Given the description of an element on the screen output the (x, y) to click on. 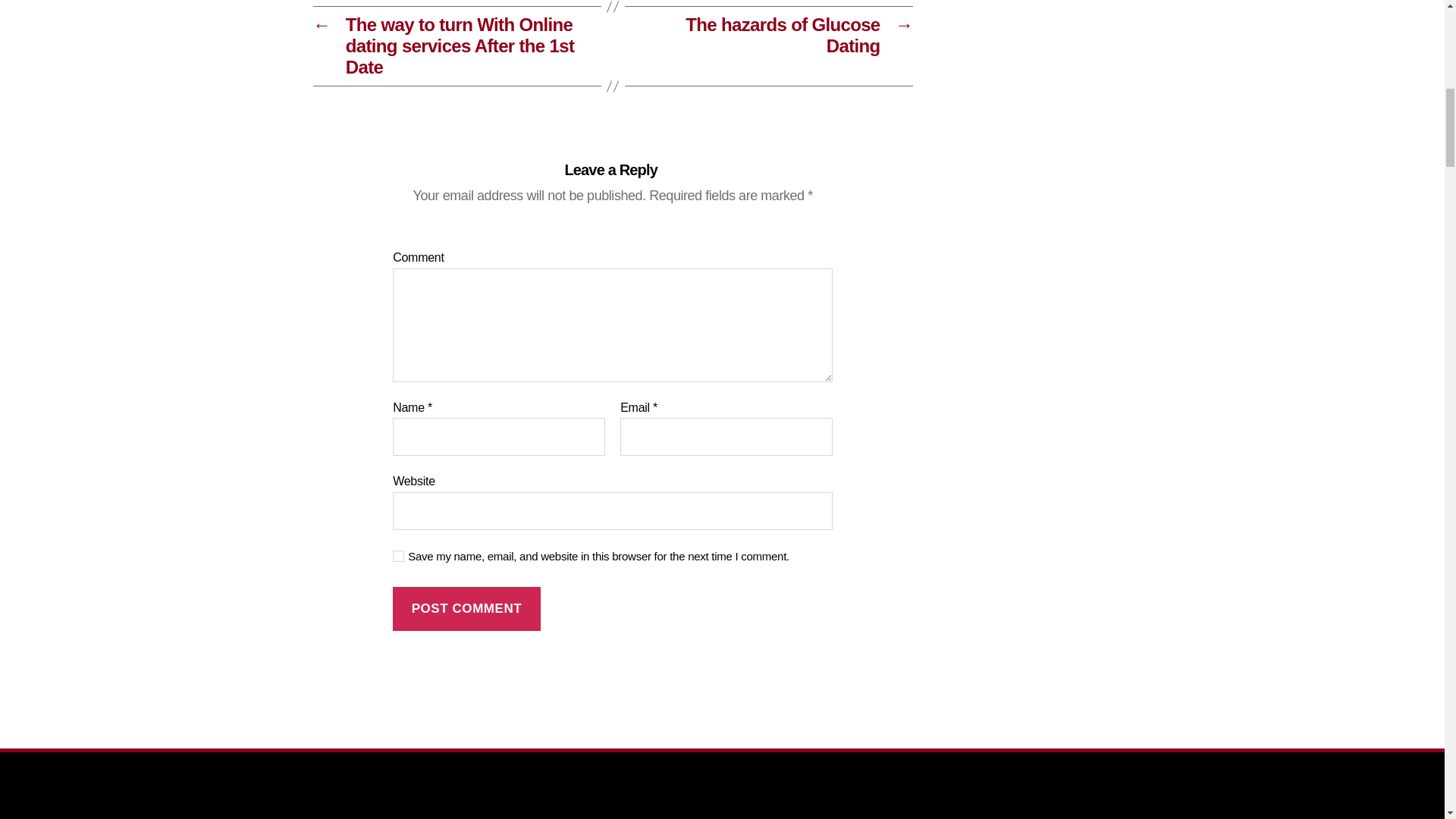
yes (398, 555)
Post Comment (466, 609)
Post Comment (466, 609)
